Given the description of an element on the screen output the (x, y) to click on. 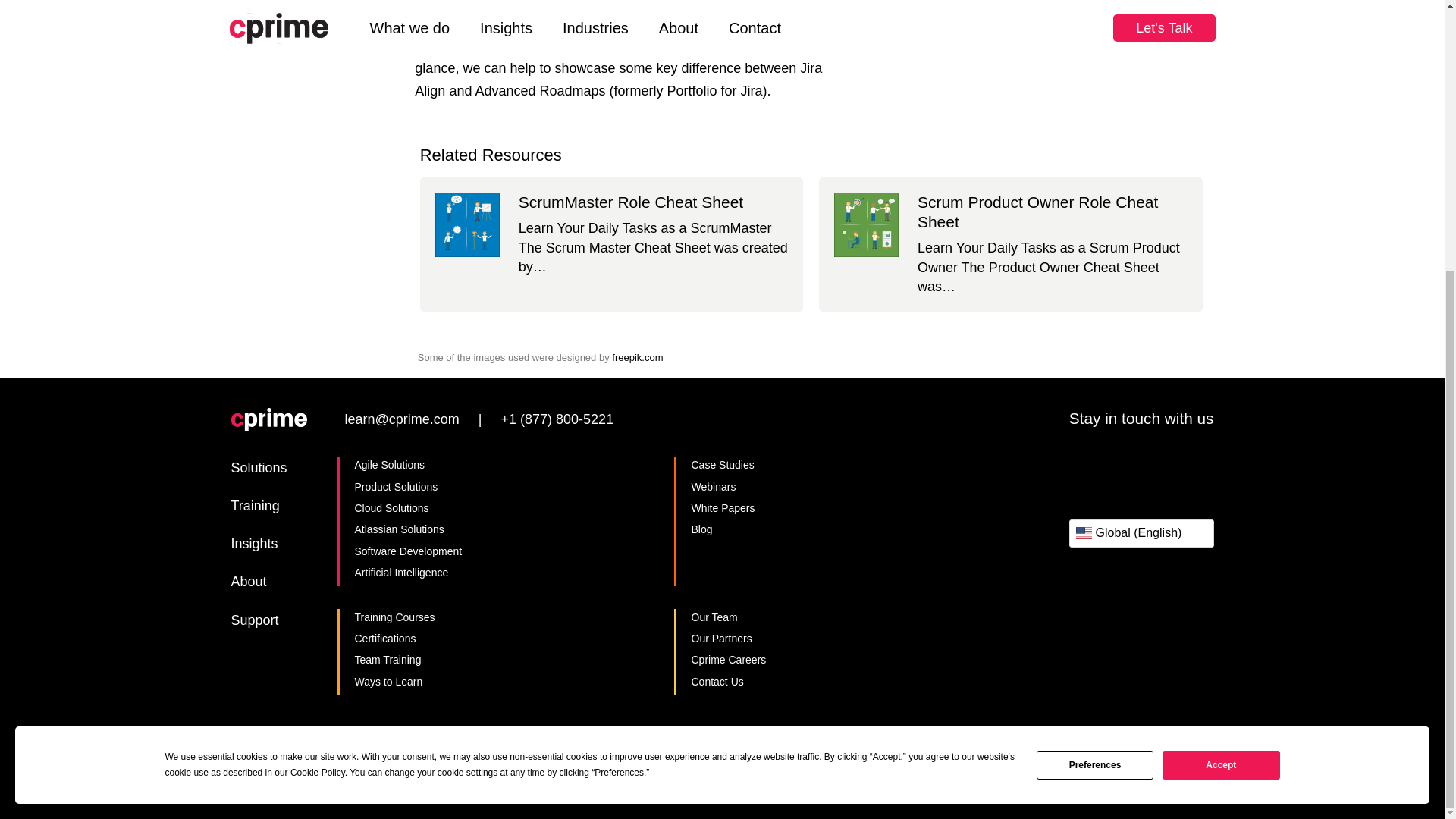
Accept (1220, 366)
Preferences (1094, 366)
Cprime (267, 420)
